Given the description of an element on the screen output the (x, y) to click on. 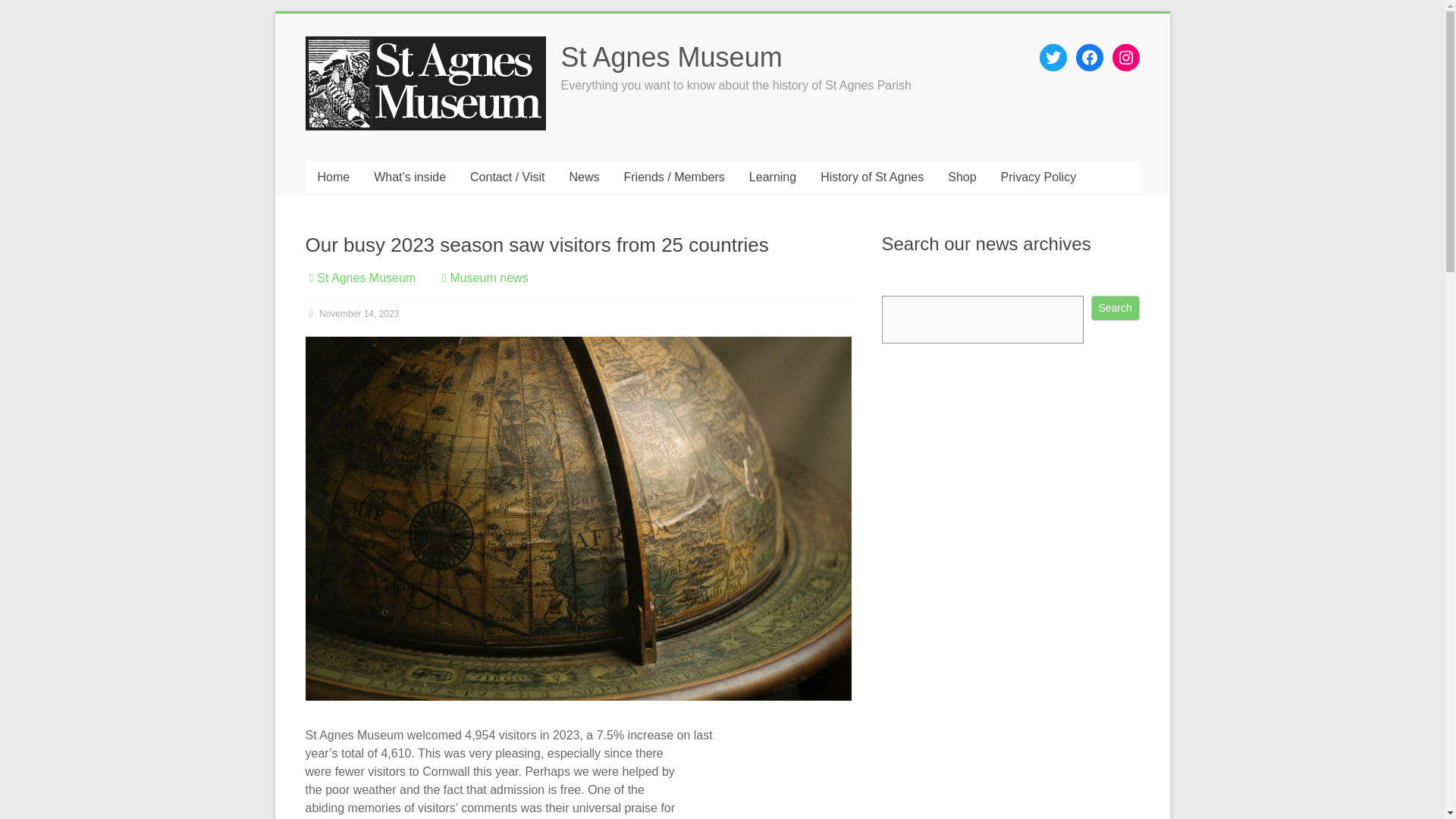
History of St Agnes (872, 177)
Search (1115, 308)
Facebook (1088, 57)
St Agnes Museum (365, 277)
News (583, 177)
St Agnes Museum (671, 56)
Home (332, 177)
4:49 pm (351, 313)
Shop (962, 177)
